Given the description of an element on the screen output the (x, y) to click on. 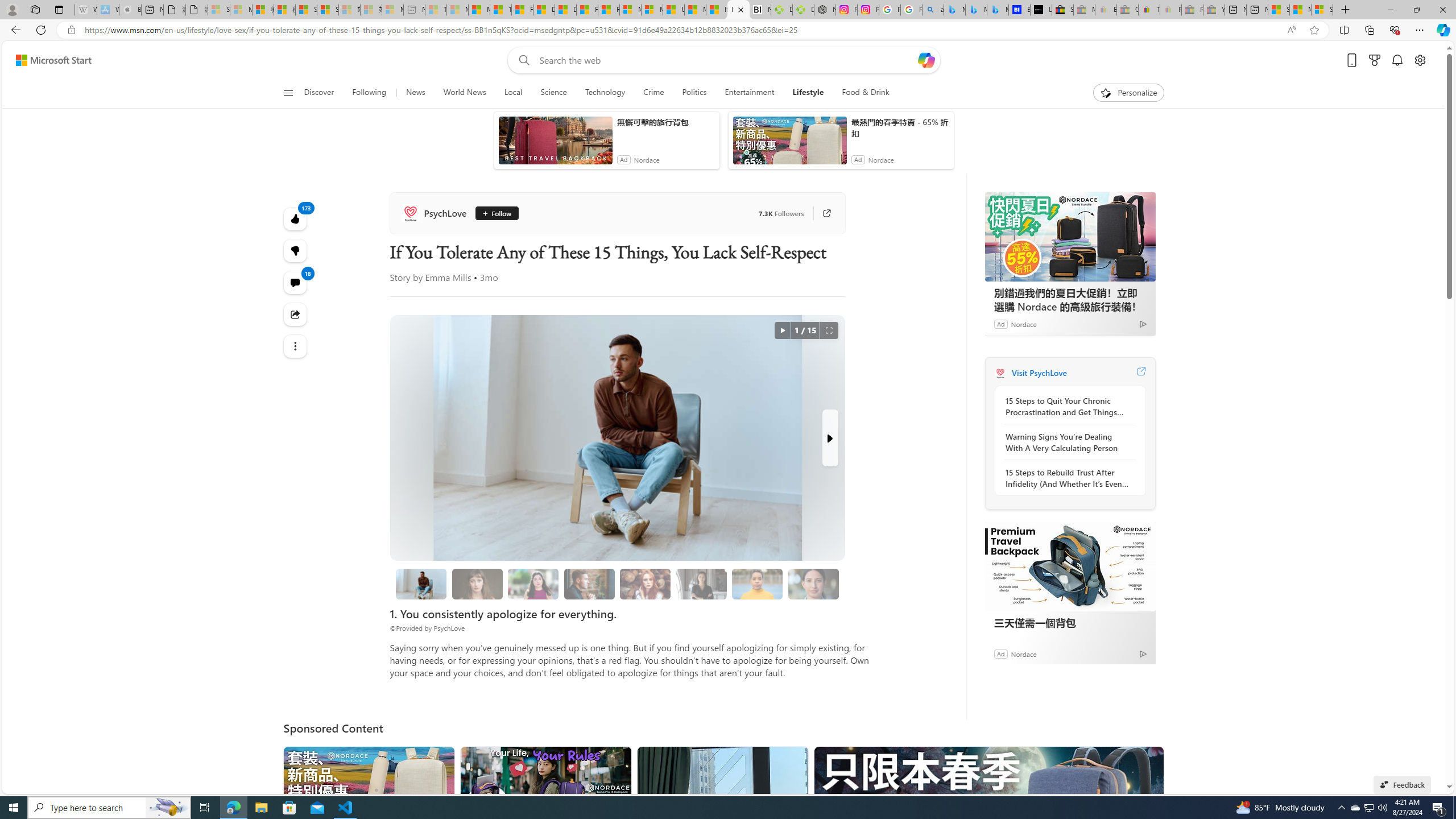
Go to publisher's site (820, 213)
Lifestyle (807, 92)
Microsoft Bing Travel - Shangri-La Hotel Bangkok (997, 9)
Sign in to your Microsoft account (1322, 9)
Technology (605, 92)
Politics (694, 92)
Local (513, 92)
173 Like (295, 218)
Food and Drink - MSN (522, 9)
